Given the description of an element on the screen output the (x, y) to click on. 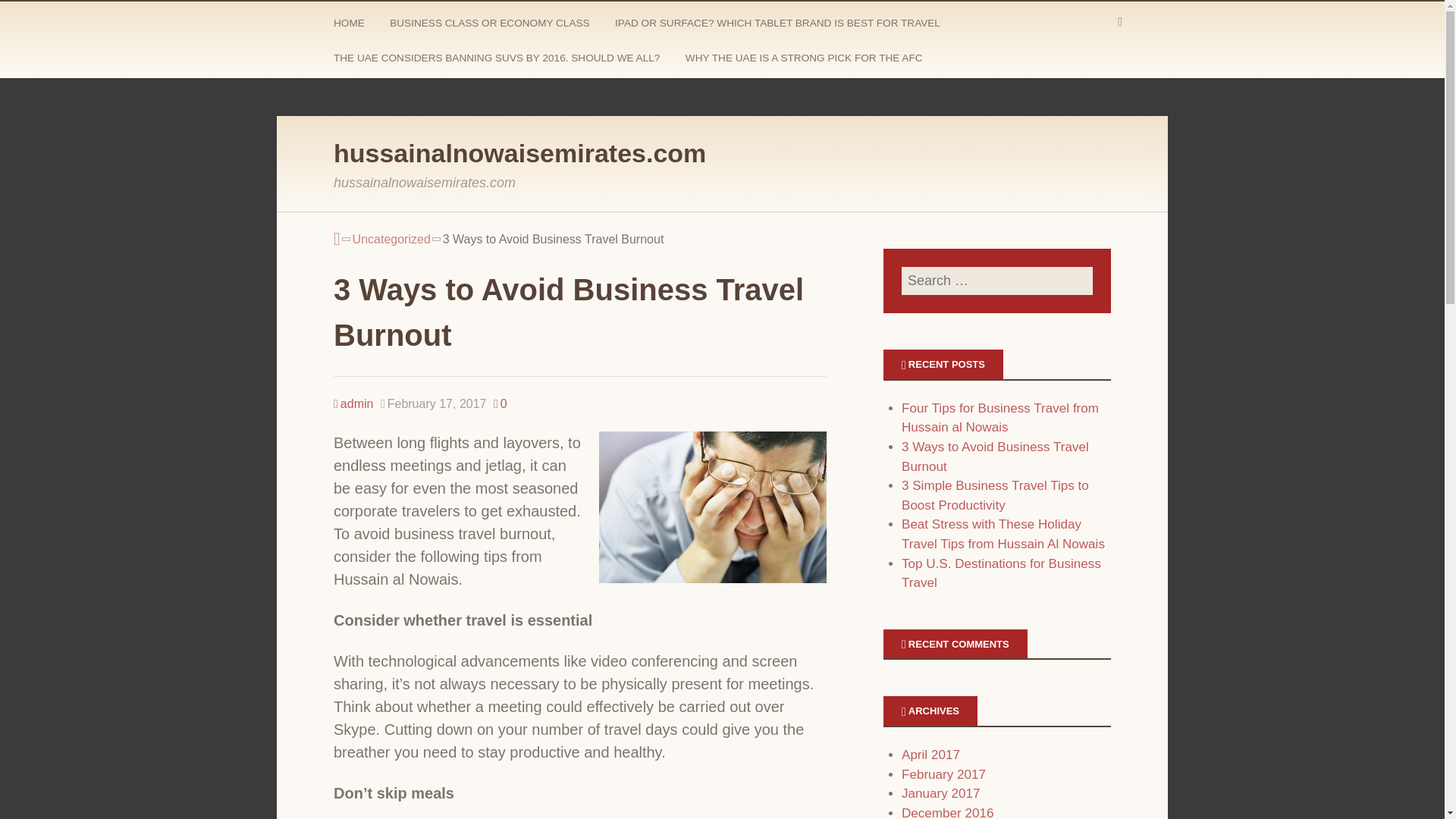
Search (30, 15)
3 Ways to Avoid Business Travel Burnout (995, 456)
HOME (350, 26)
THE UAE CONSIDERS BANNING SUVS BY 2016. SHOULD WE ALL? (498, 61)
Posts by admin (352, 403)
hussainalnowaisemirates.com (519, 152)
IPAD OR SURFACE? WHICH TABLET BRAND IS BEST FOR TRAVEL (778, 26)
Four Tips for Business Travel from Hussain al Nowais (1000, 417)
Top U.S. Destinations for Business Travel (1000, 573)
BUSINESS CLASS OR ECONOMY CLASS (491, 26)
April 2017 (930, 754)
3 Simple Business Travel Tips to Boost Productivity (995, 495)
February 2017 (943, 774)
Friday, February 17, 2017, 8:34 pm (433, 403)
WHY THE UAE IS A STRONG PICK FOR THE AFC (805, 61)
